Given the description of an element on the screen output the (x, y) to click on. 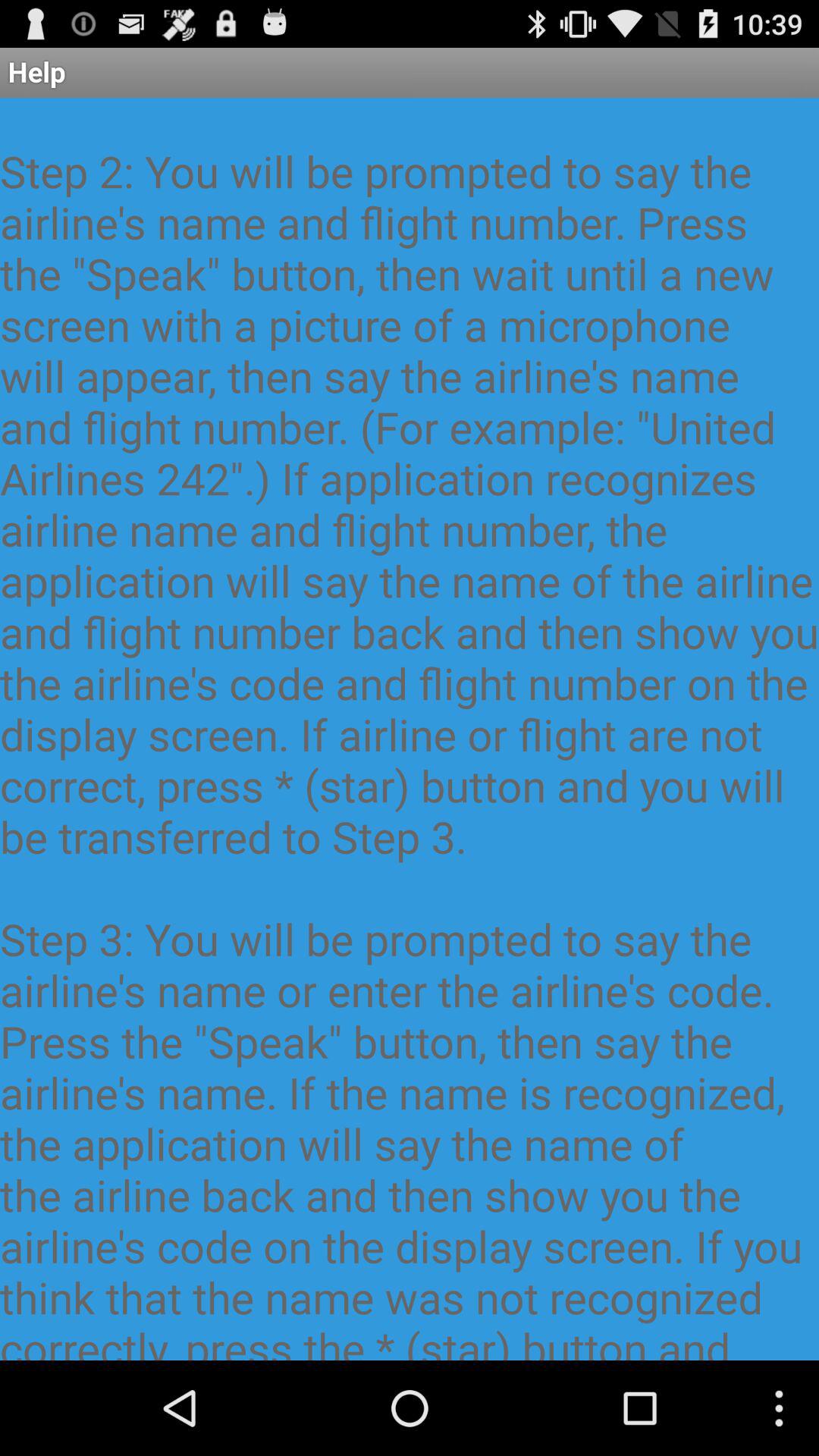
scroll to this application resembles icon (409, 728)
